Given the description of an element on the screen output the (x, y) to click on. 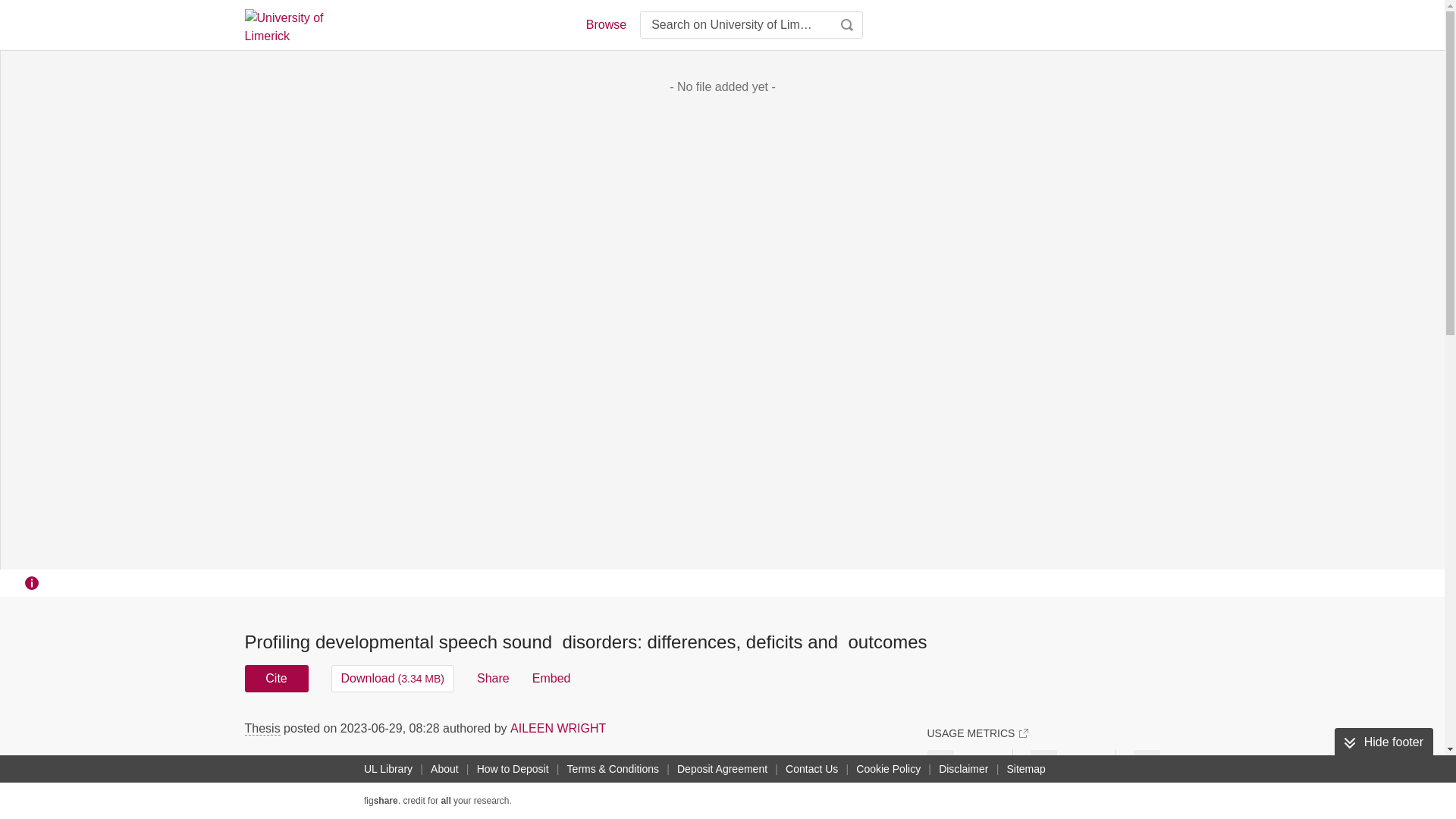
UL Library (387, 769)
Embed (551, 678)
USAGE METRICS (976, 732)
Cite (275, 678)
Contact Us (811, 769)
Hide footer (1383, 742)
Disclaimer (963, 769)
How to Deposit (512, 769)
AILEEN WRIGHT (558, 727)
Deposit Agreement (721, 769)
